Given the description of an element on the screen output the (x, y) to click on. 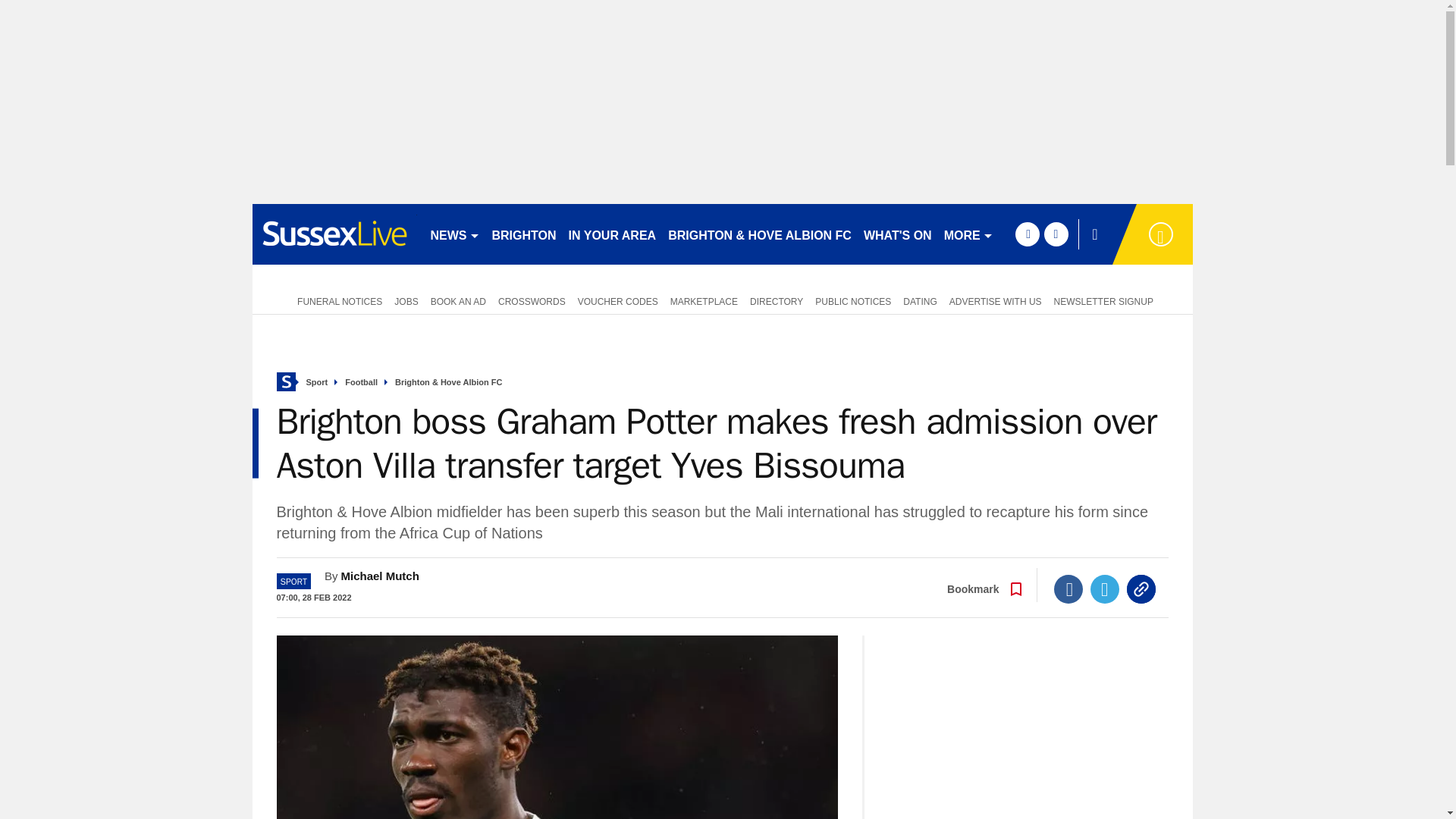
IN YOUR AREA (612, 233)
facebook (1026, 233)
MARKETPLACE (703, 300)
NEWS (455, 233)
FUNERAL NOTICES (336, 300)
JOBS (405, 300)
Twitter (1104, 588)
BRIGHTON (523, 233)
CROSSWORDS (532, 300)
MORE (967, 233)
VOUCHER CODES (617, 300)
twitter (1055, 233)
WHAT'S ON (897, 233)
BOOK AN AD (458, 300)
sussexlive (333, 233)
